Given the description of an element on the screen output the (x, y) to click on. 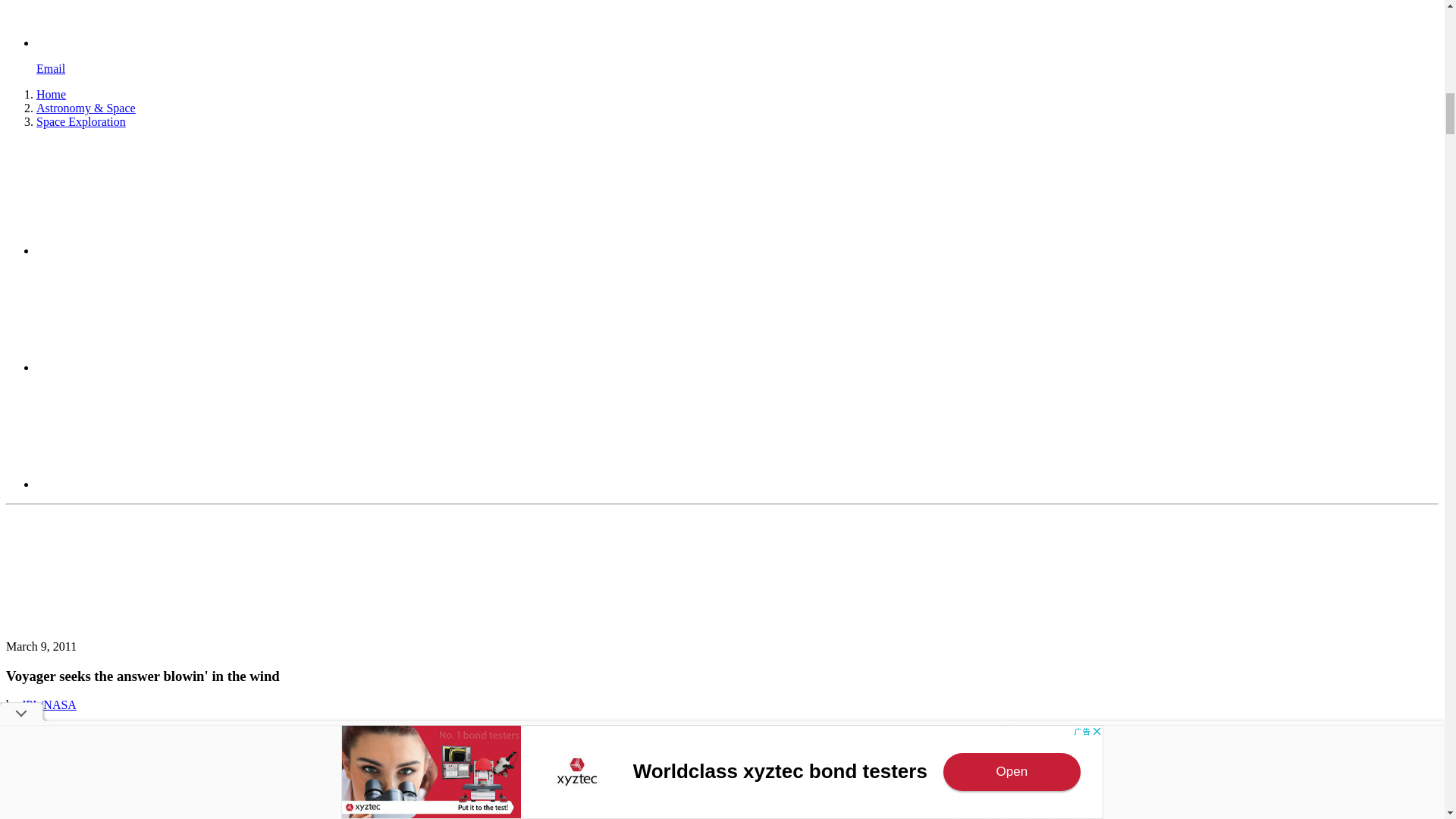
gyroscopes (948, 781)
Home (50, 93)
Space Exploration (80, 121)
Print (149, 483)
Save as pdf file (149, 367)
